Given the description of an element on the screen output the (x, y) to click on. 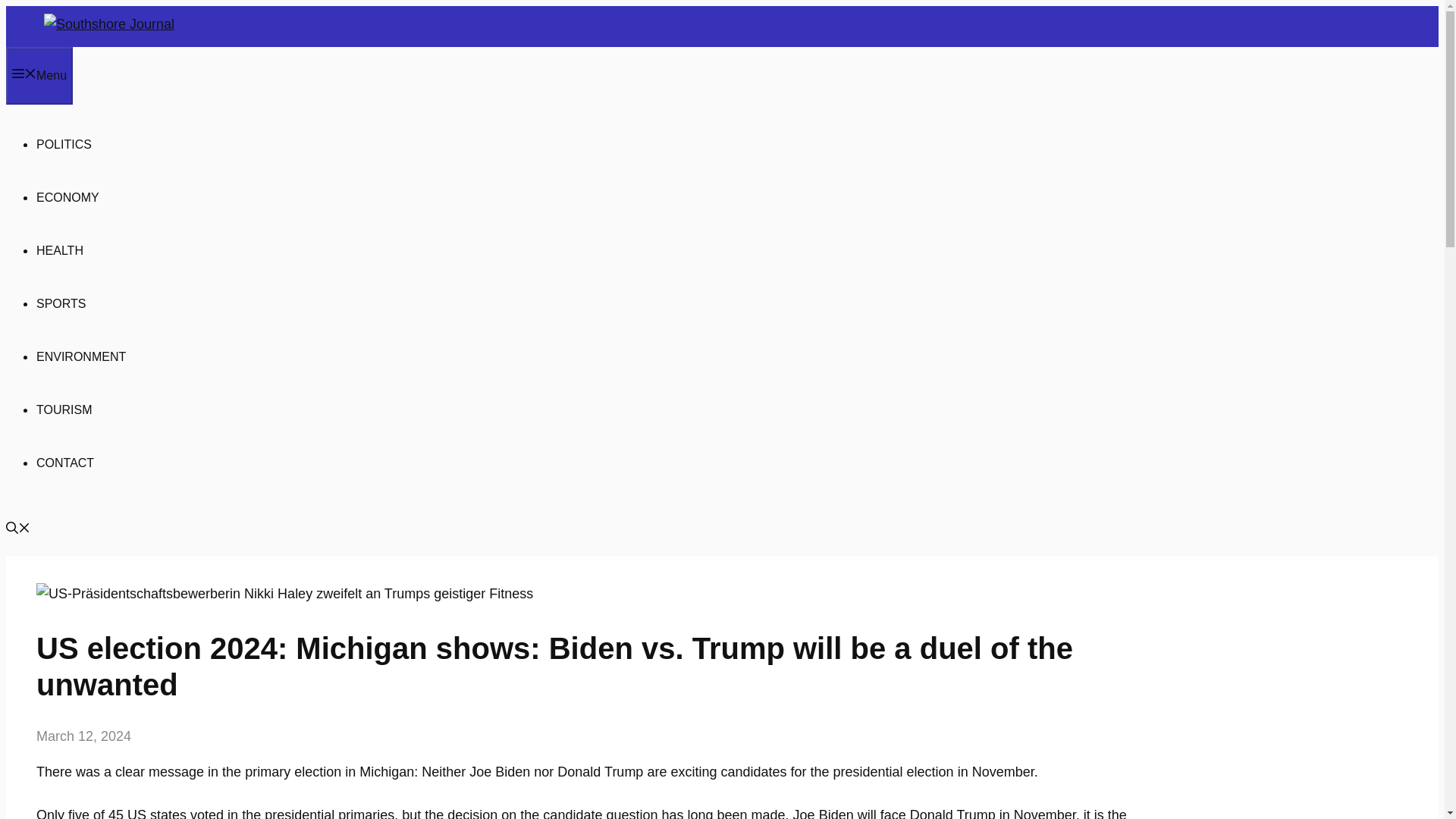
POLITICS (63, 144)
ENVIRONMENT (80, 356)
SPORTS (60, 303)
CONTACT (65, 462)
Menu (38, 75)
HEALTH (59, 250)
TOURISM (63, 409)
ECONOMY (67, 196)
